Given the description of an element on the screen output the (x, y) to click on. 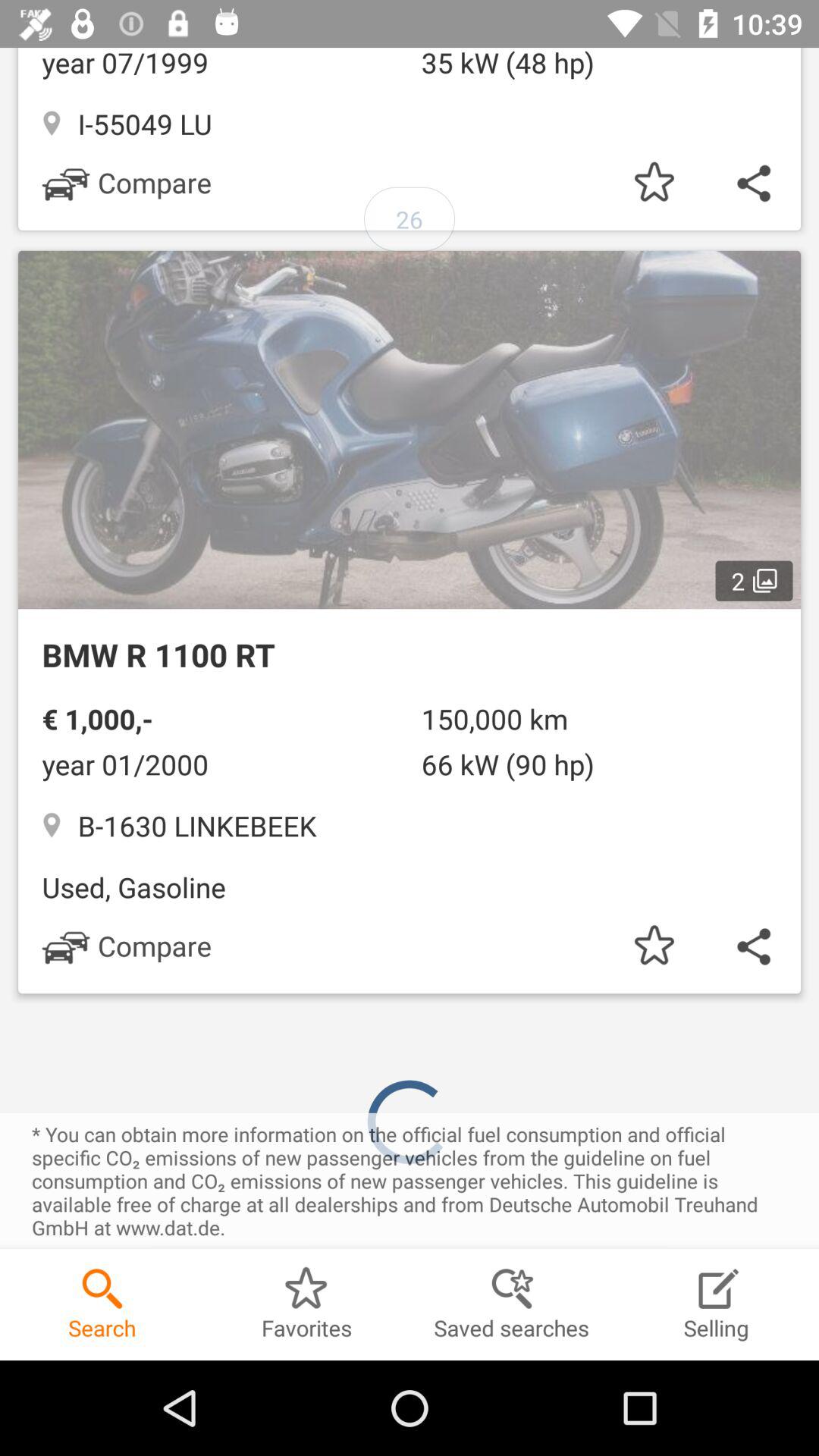
tap the you can obtain icon (409, 1180)
